Given the description of an element on the screen output the (x, y) to click on. 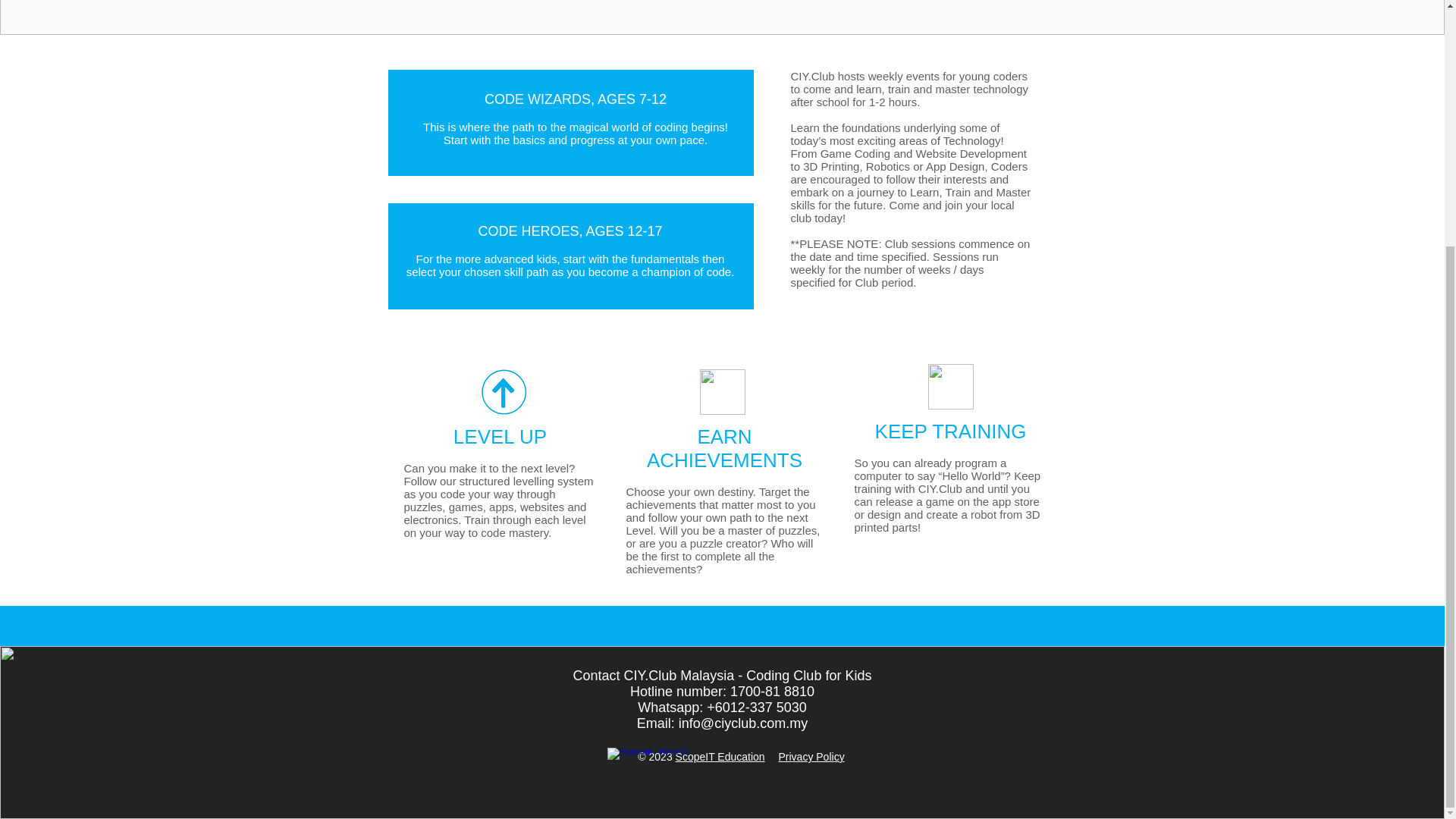
ScopeIT Education (720, 756)
Privacy Policy (810, 756)
